Given the description of an element on the screen output the (x, y) to click on. 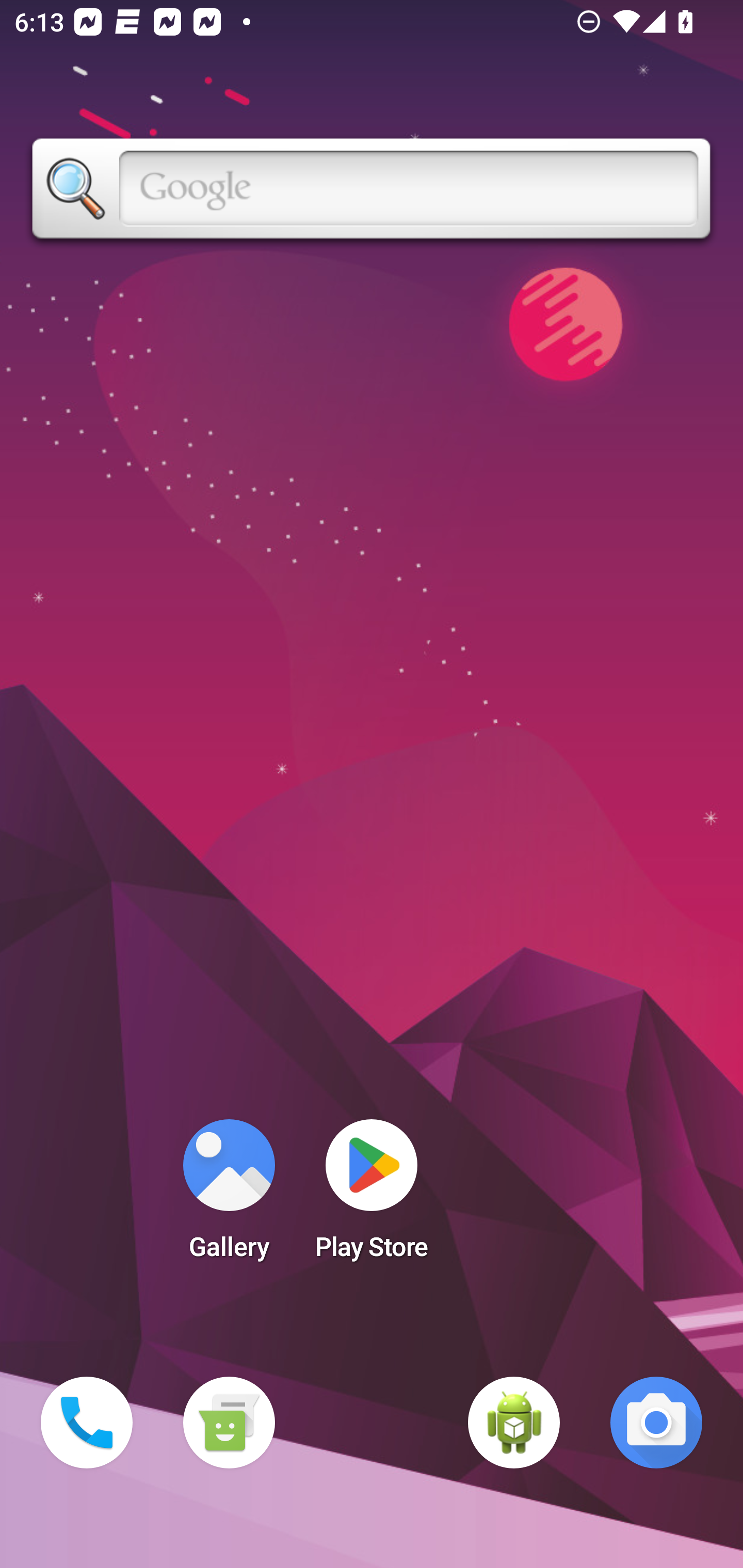
Gallery (228, 1195)
Play Store (371, 1195)
Phone (86, 1422)
Messaging (228, 1422)
WebView Browser Tester (513, 1422)
Camera (656, 1422)
